Given the description of an element on the screen output the (x, y) to click on. 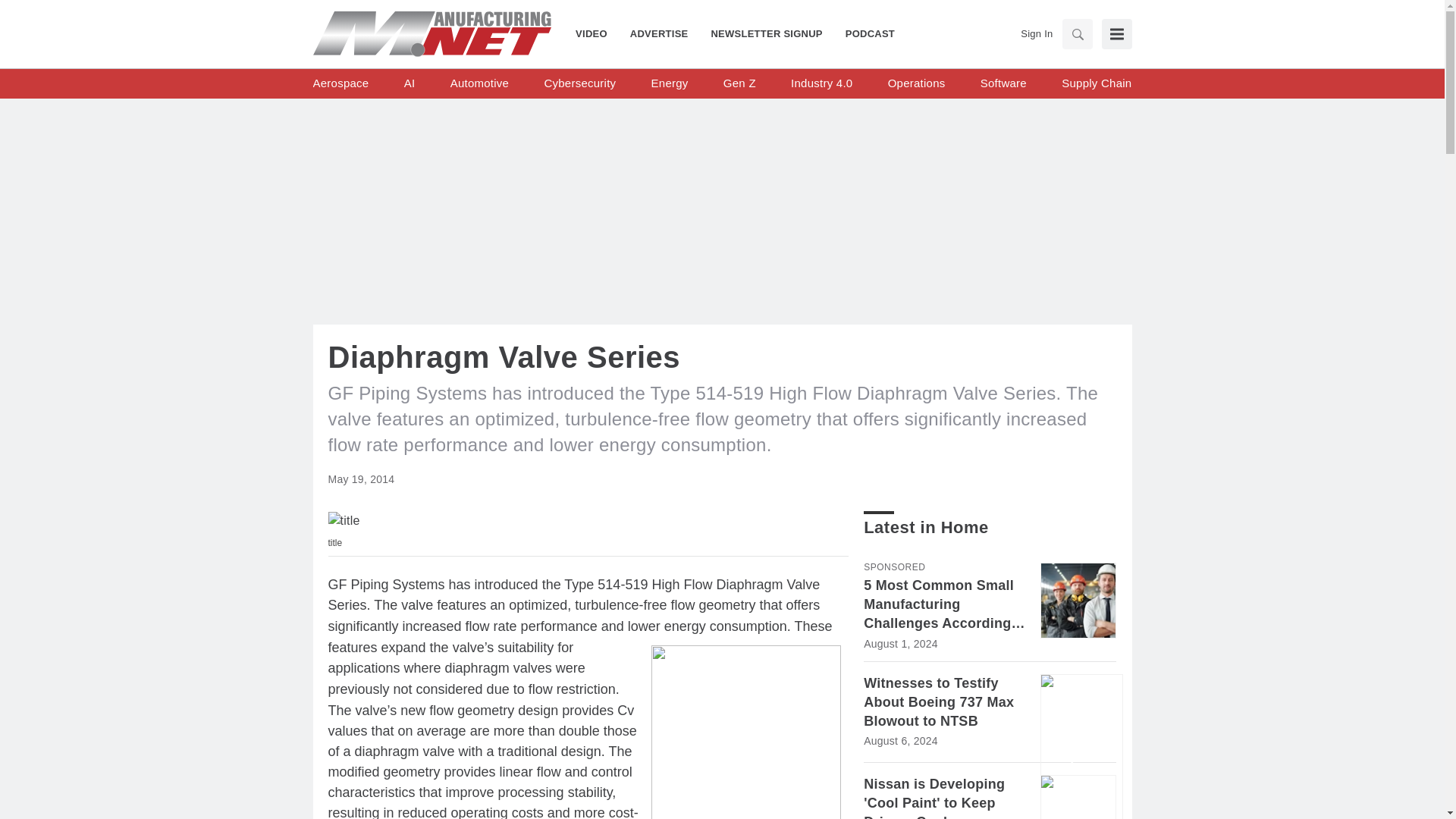
Sponsored (893, 566)
Software (1002, 83)
Supply Chain (1096, 83)
Energy (669, 83)
Operations (916, 83)
Industry 4.0 (820, 83)
VIDEO (596, 33)
Gen Z (739, 83)
Sign In (1036, 33)
PODCAST (864, 33)
